Given the description of an element on the screen output the (x, y) to click on. 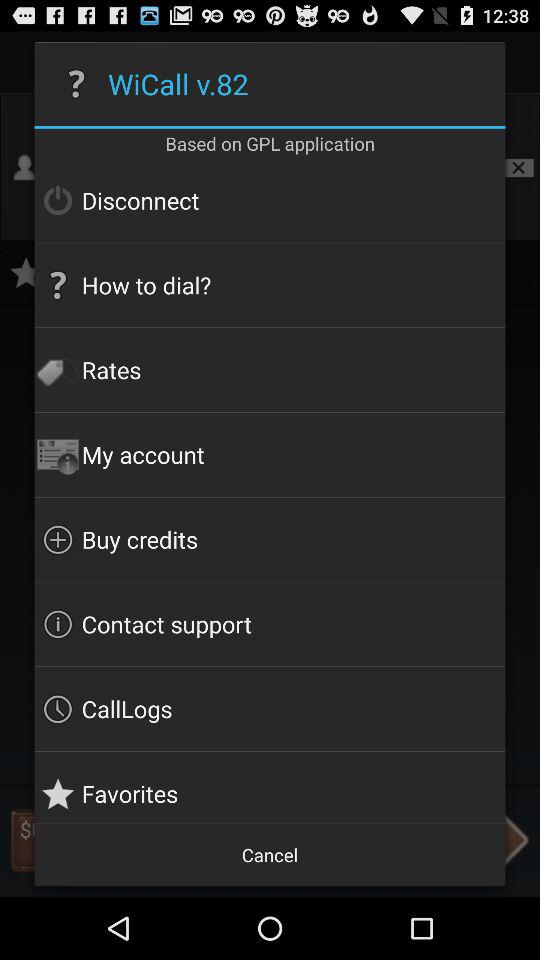
tap buy credits icon (269, 539)
